Given the description of an element on the screen output the (x, y) to click on. 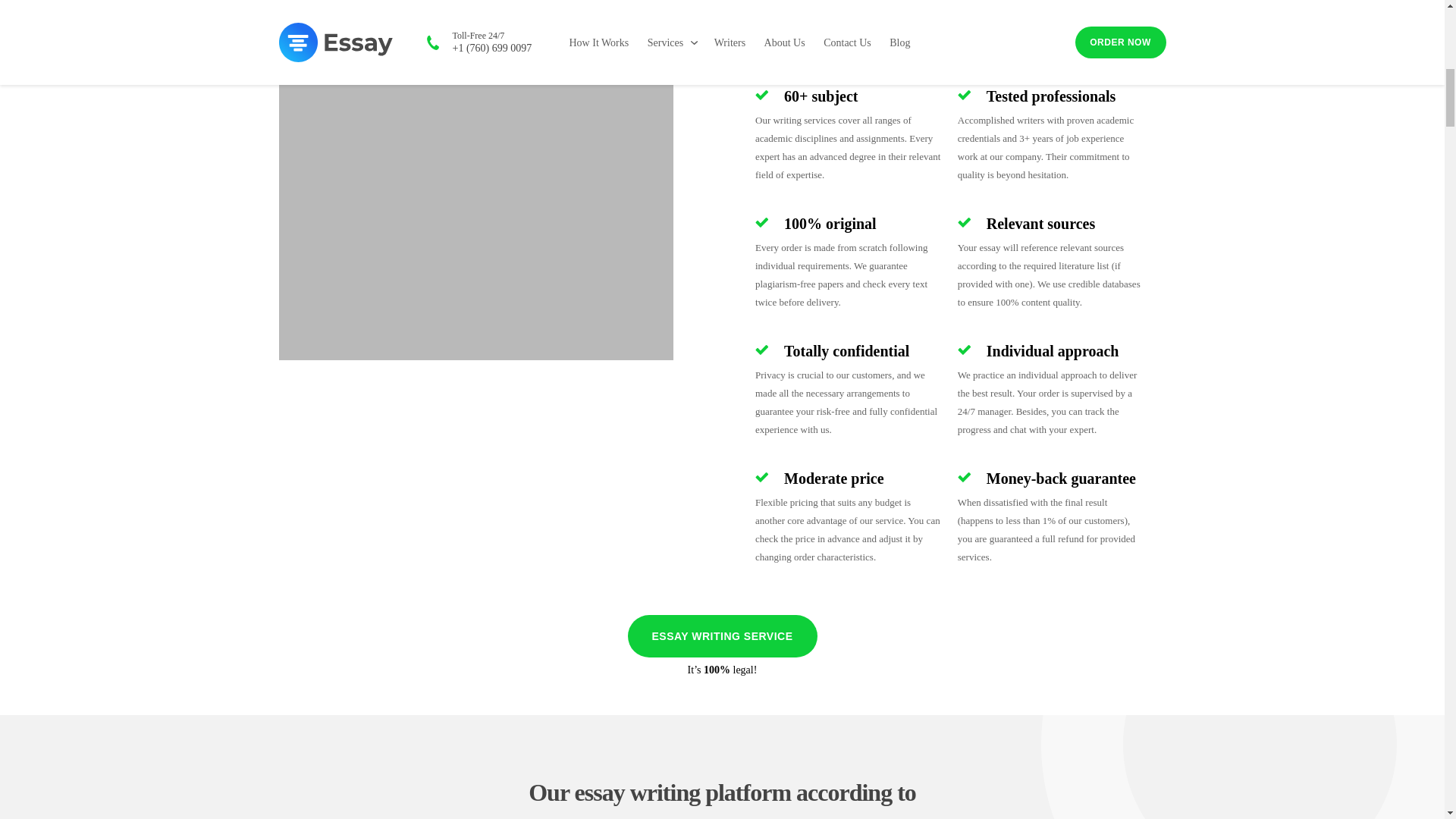
ESSAY WRITING SERVICE (721, 636)
